Given the description of an element on the screen output the (x, y) to click on. 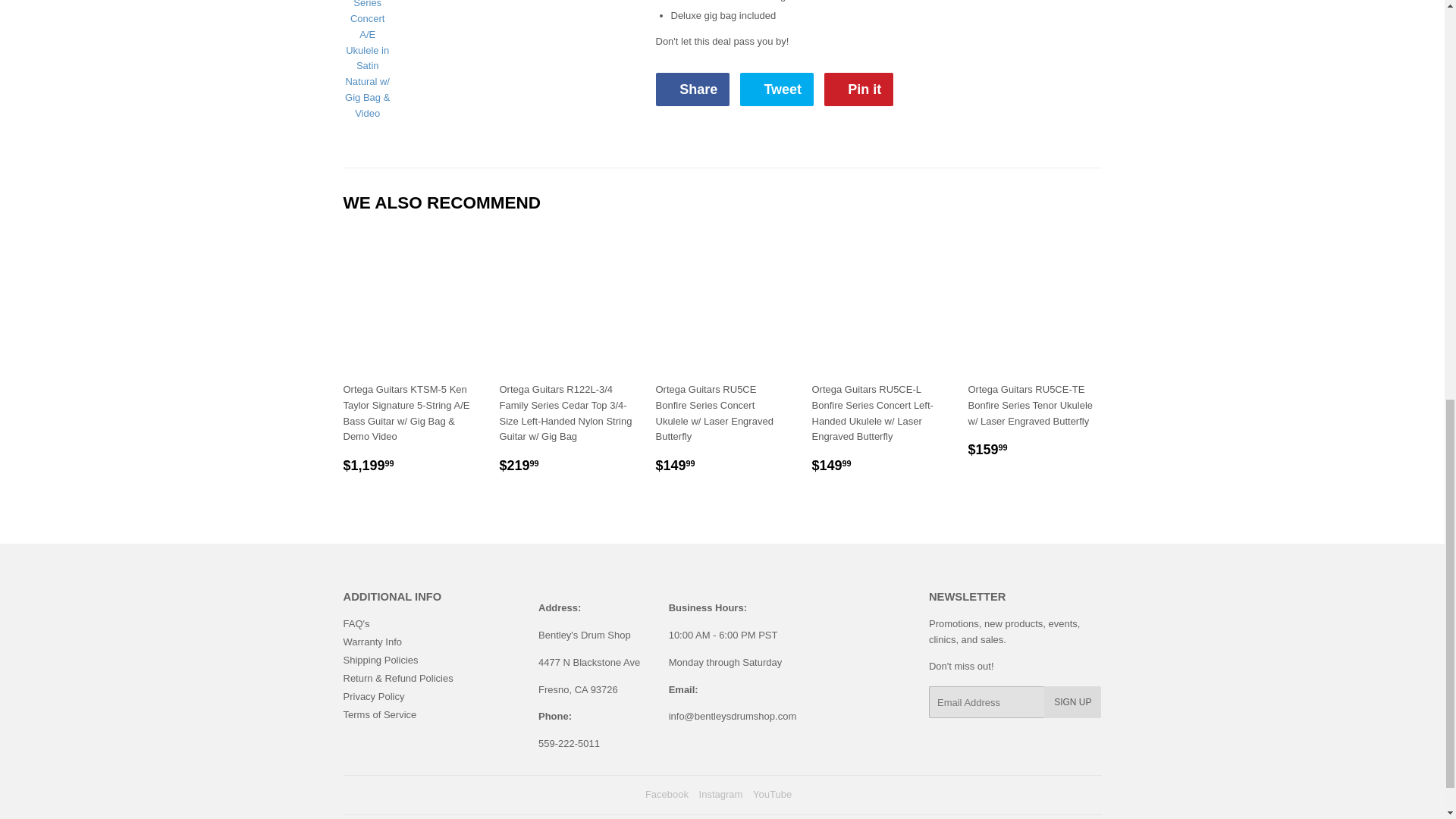
tel:5592225011 (568, 743)
Tweet on Twitter (776, 89)
Pin on Pinterest (858, 89)
Share on Facebook (692, 89)
